Given the description of an element on the screen output the (x, y) to click on. 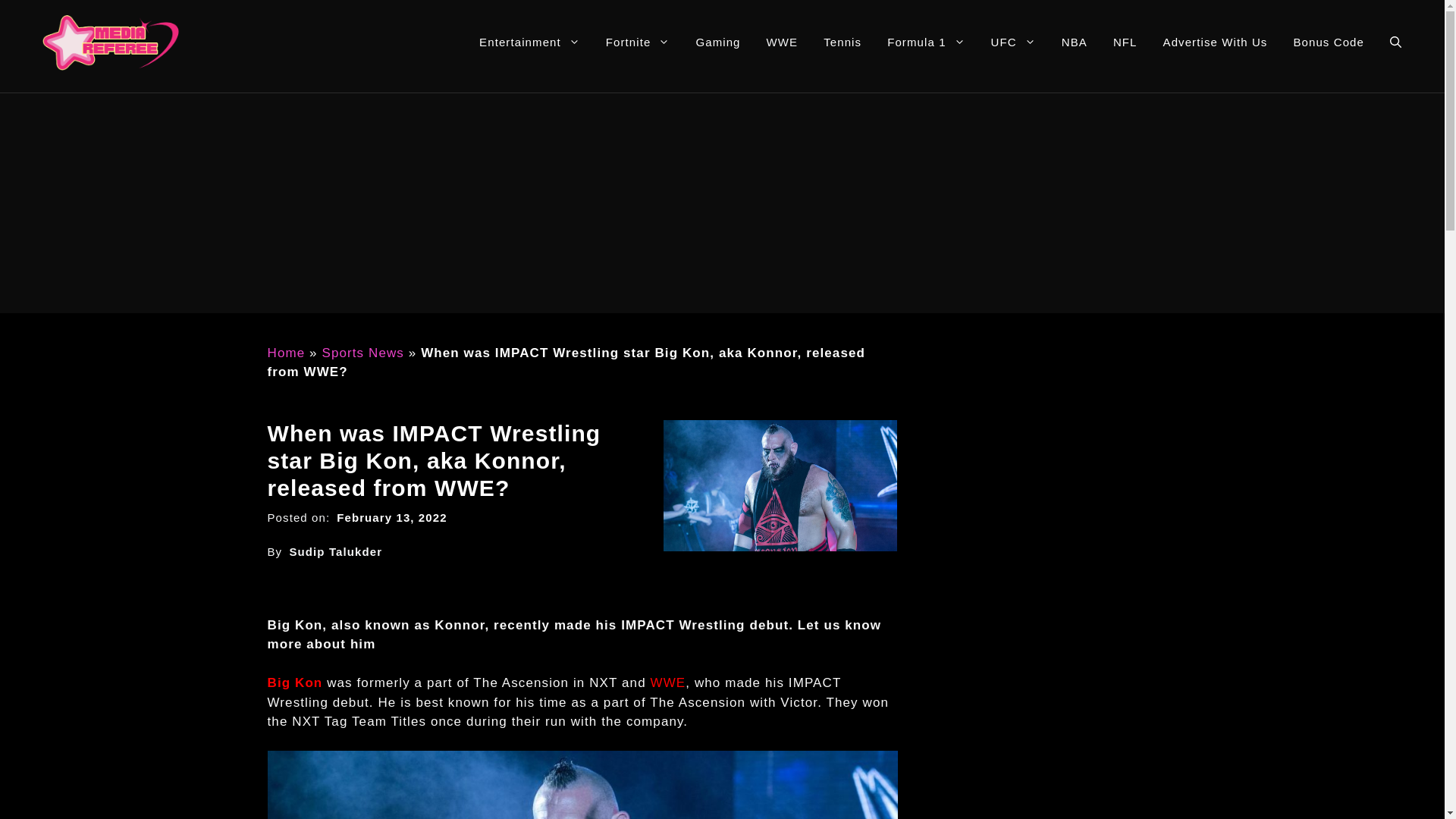
Sudip Talukder (334, 551)
NFL (1125, 42)
Home (285, 352)
Bonus Code (1328, 42)
Gaming (717, 42)
Entertainment (528, 42)
Sports News (362, 352)
WWE (782, 42)
